Given the description of an element on the screen output the (x, y) to click on. 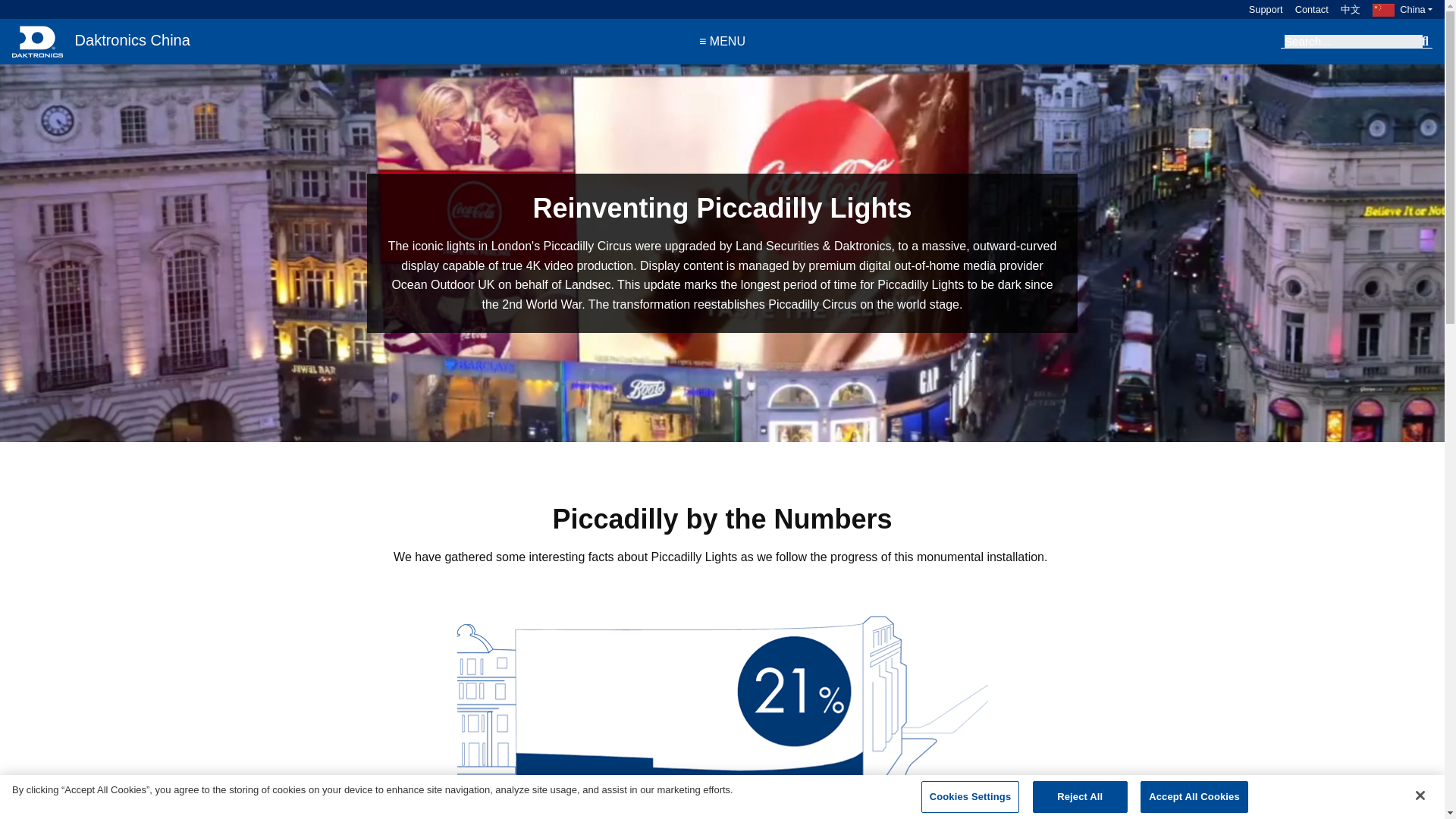
Daktronics China (99, 41)
China (1402, 9)
Support (1259, 9)
Contact (1304, 9)
Daktronics (36, 41)
